Given the description of an element on the screen output the (x, y) to click on. 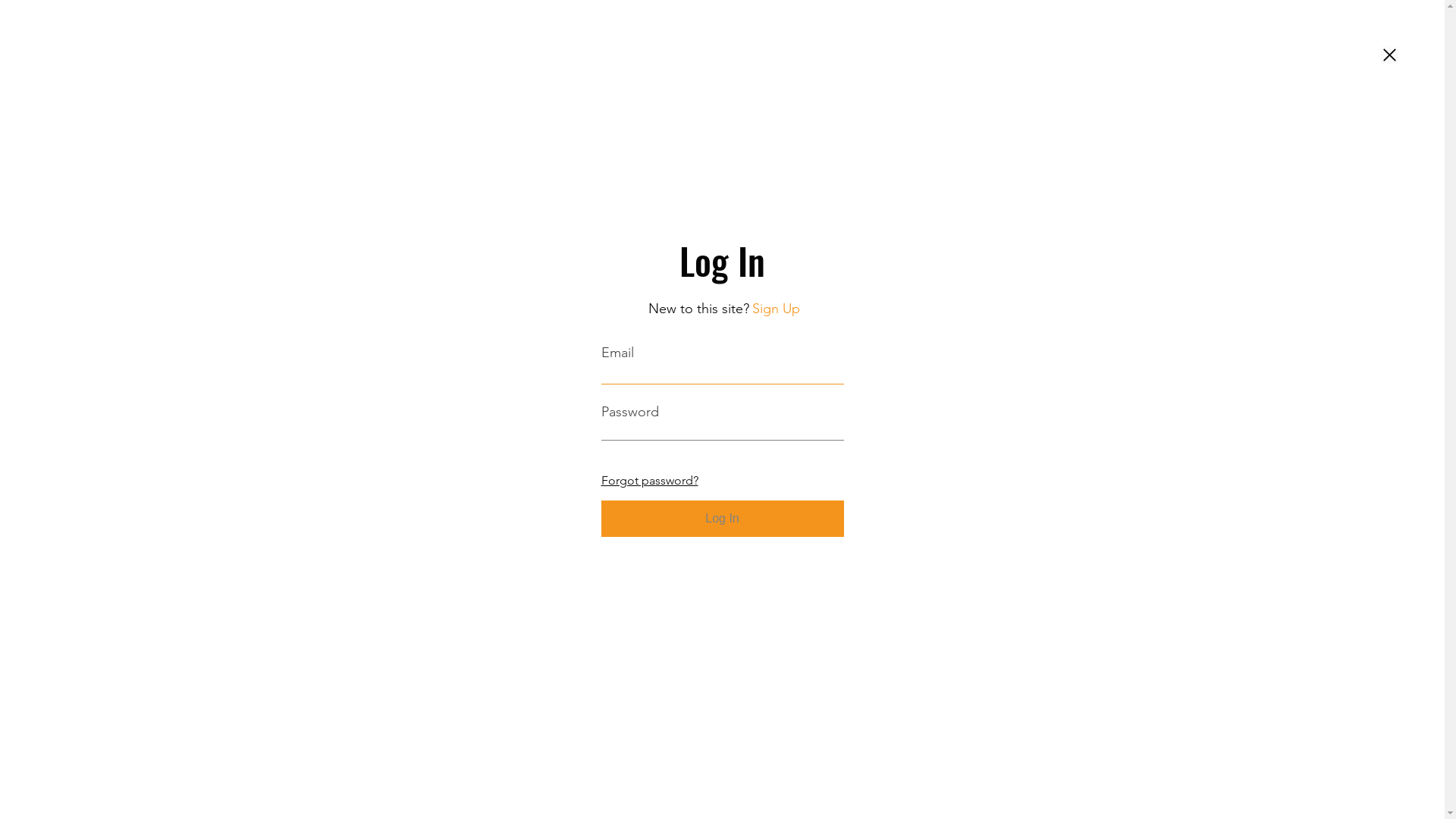
Log In Element type: text (721, 518)
Forgot password? Element type: text (648, 479)
Sign Up Element type: text (776, 309)
